Given the description of an element on the screen output the (x, y) to click on. 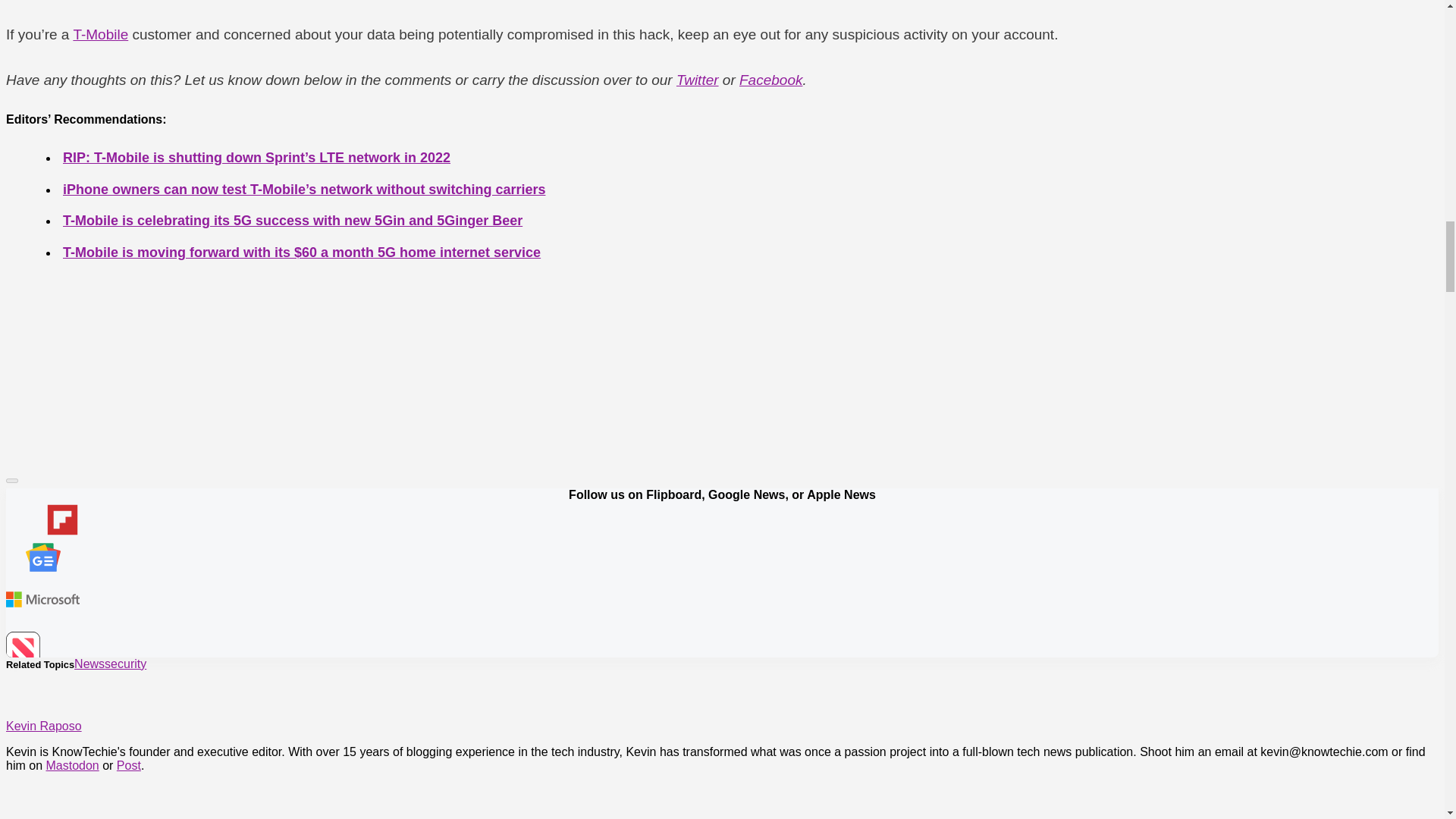
KnowTechie Apple News (42, 650)
MSN KnowTechie (42, 600)
Posts by Kevin Raposo (43, 725)
KnowTechie Google News (42, 558)
KnowTechie Flipboard (42, 520)
